Given the description of an element on the screen output the (x, y) to click on. 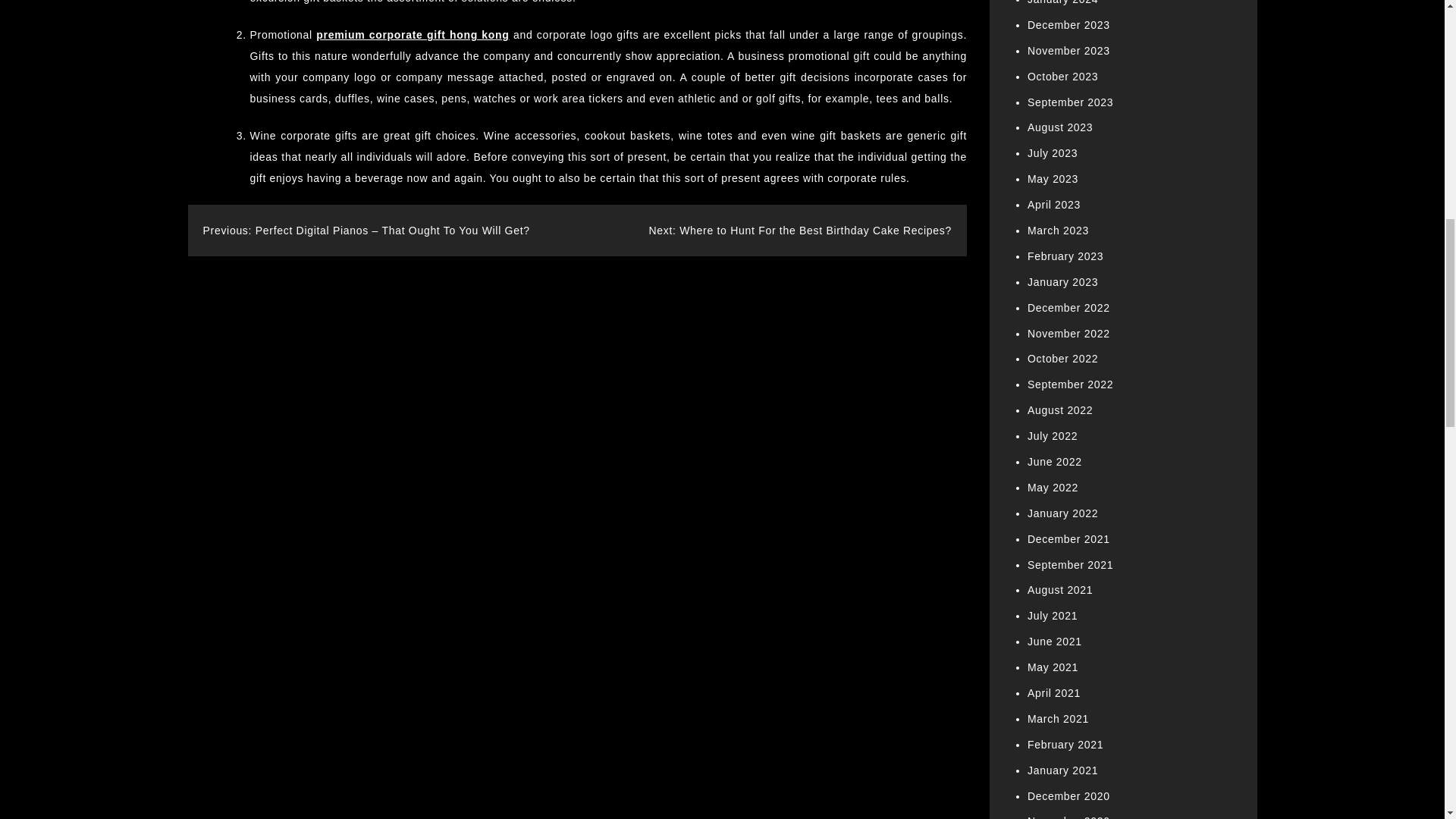
November 2022 (1068, 333)
December 2023 (1068, 24)
July 2023 (1052, 152)
April 2023 (1053, 204)
January 2023 (1062, 282)
November 2023 (1068, 50)
Next: Where to Hunt For the Best Birthday Cake Recipes? (799, 230)
December 2022 (1068, 307)
September 2023 (1070, 101)
August 2023 (1060, 127)
